Given the description of an element on the screen output the (x, y) to click on. 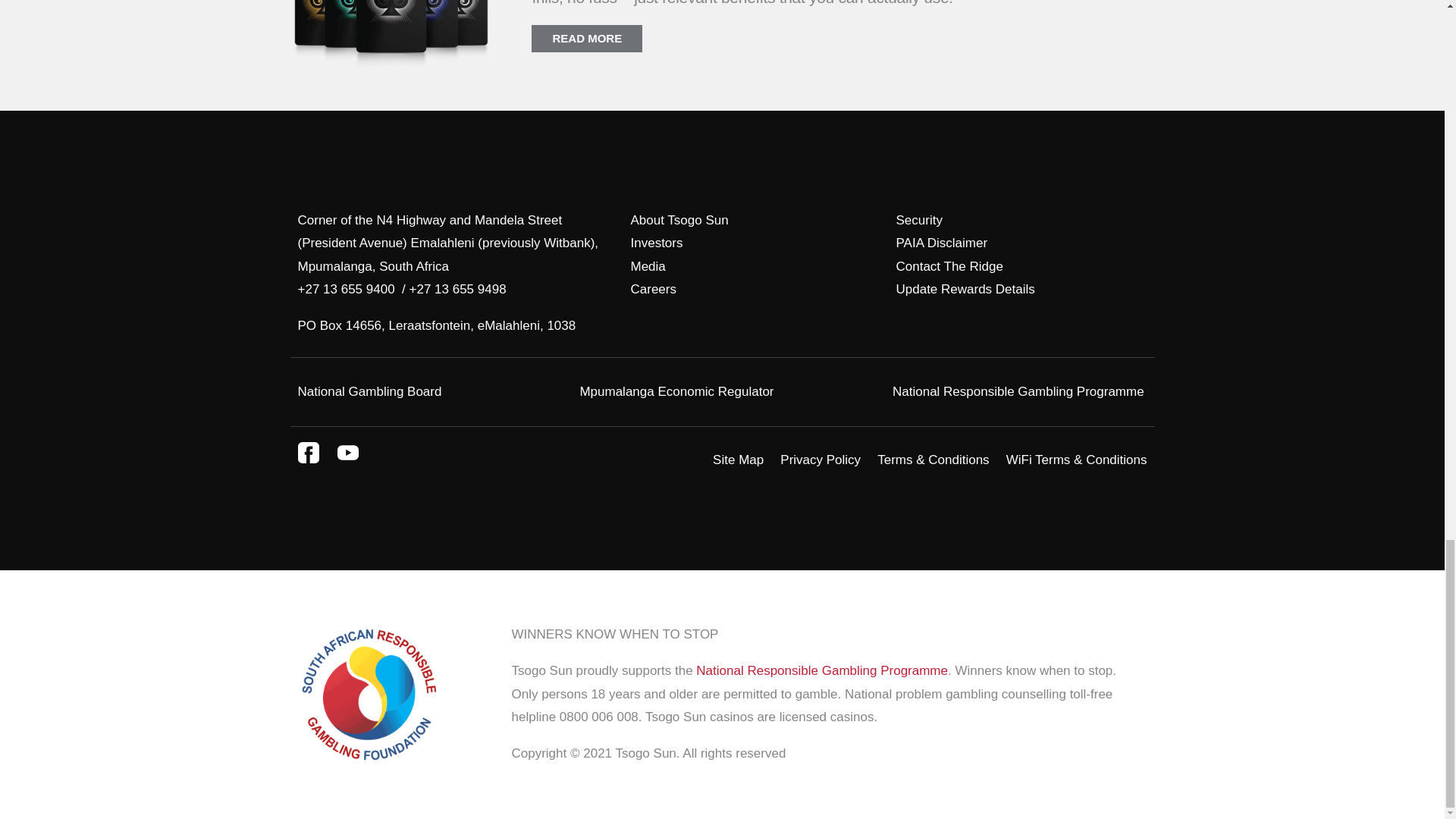
Media (647, 266)
About Tsogo Sun (679, 219)
Investors (656, 242)
READ MORE (586, 38)
Careers (653, 288)
